Given the description of an element on the screen output the (x, y) to click on. 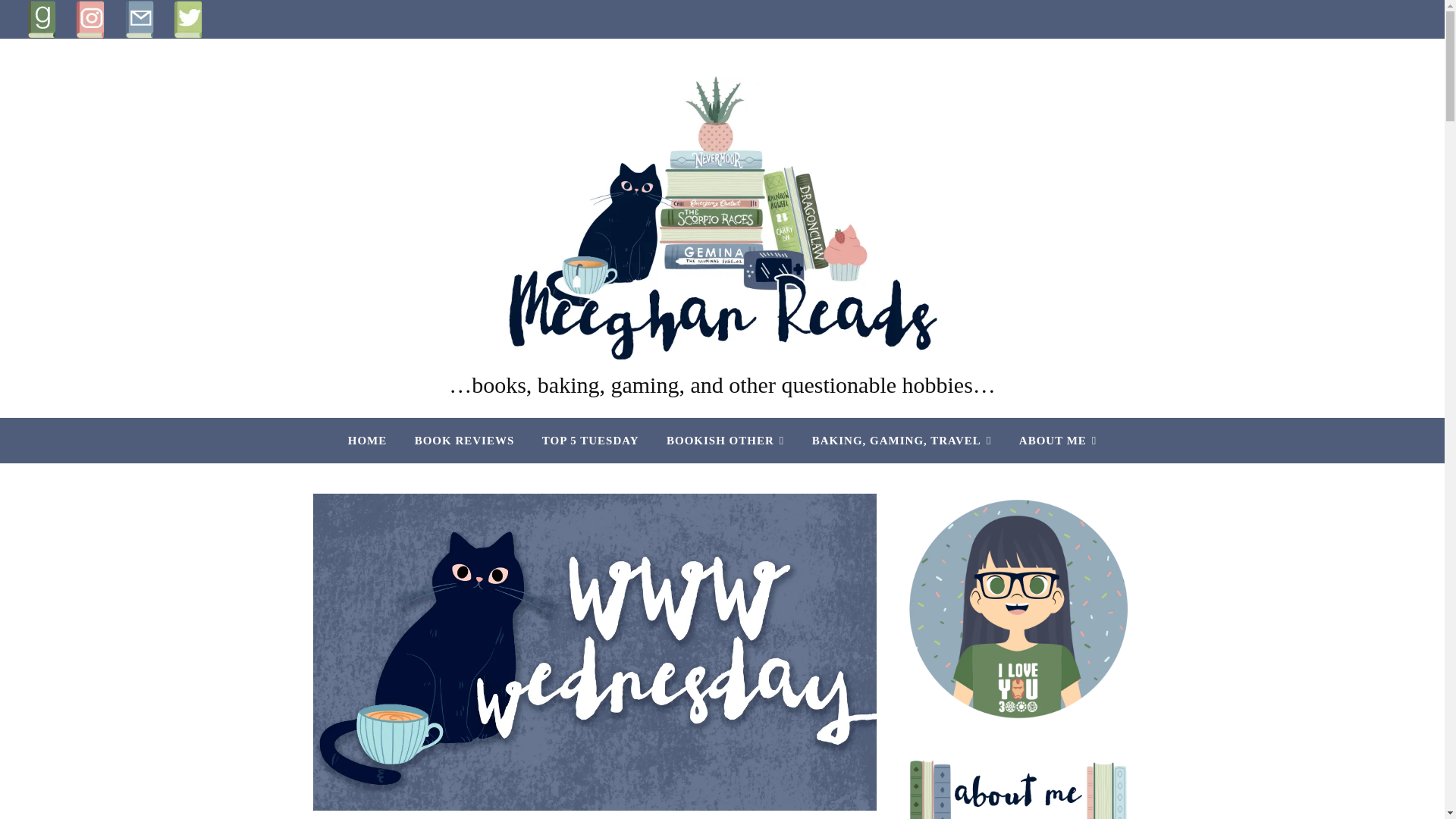
TOP 5 TUESDAY (589, 440)
BAKING, GAMING, TRAVEL (901, 440)
HOME (372, 440)
BOOK REVIEWS (465, 440)
ABOUT ME (1051, 440)
BOOKISH OTHER (724, 440)
